Given the description of an element on the screen output the (x, y) to click on. 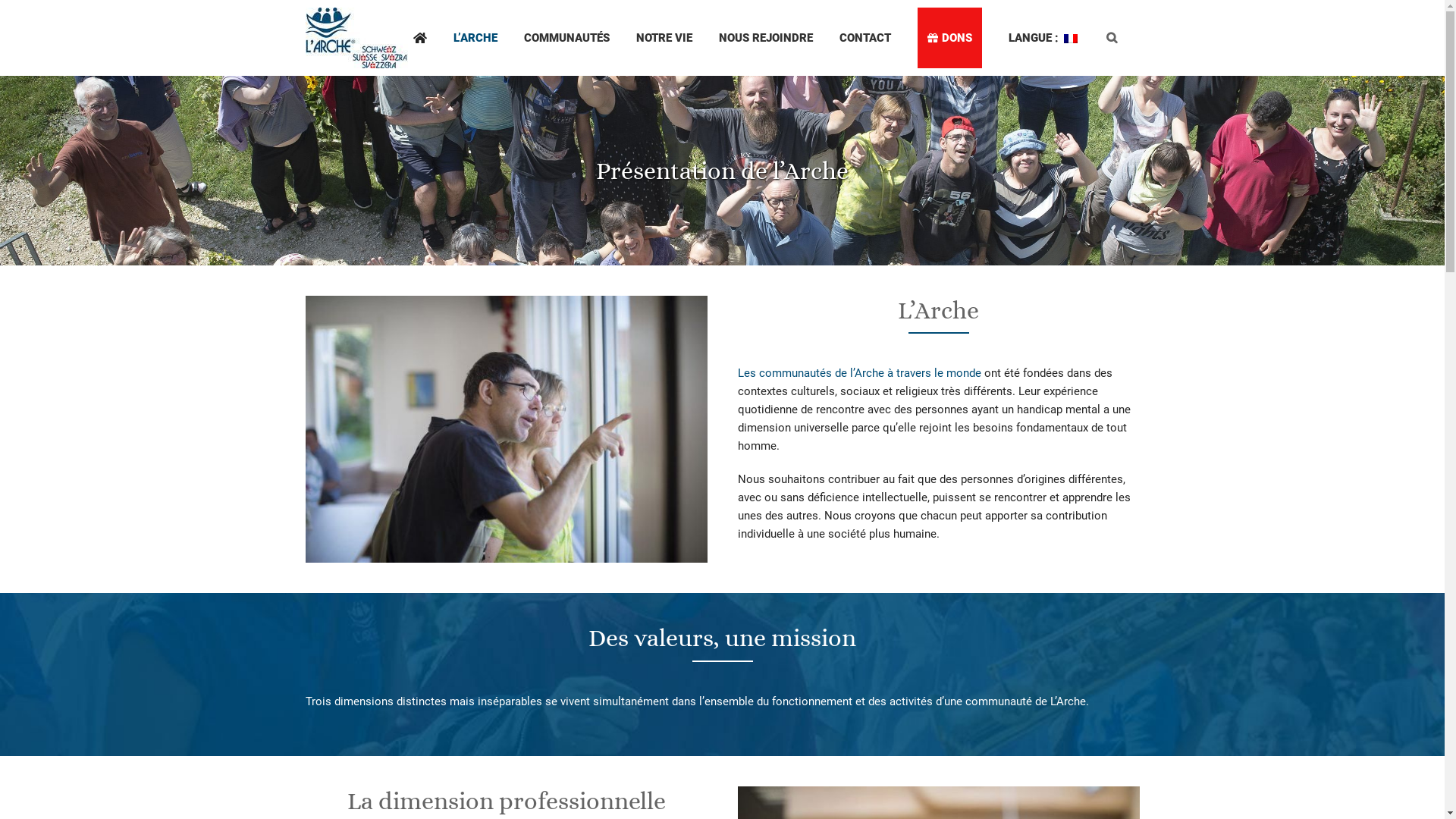
CONTACT Element type: text (864, 37)
NOTRE VIE Element type: text (664, 37)
Recherche Element type: hover (1111, 37)
LANGUE :  Element type: text (1043, 37)
DONS Element type: text (949, 37)
NOUS REJOINDRE Element type: text (764, 37)
